Given the description of an element on the screen output the (x, y) to click on. 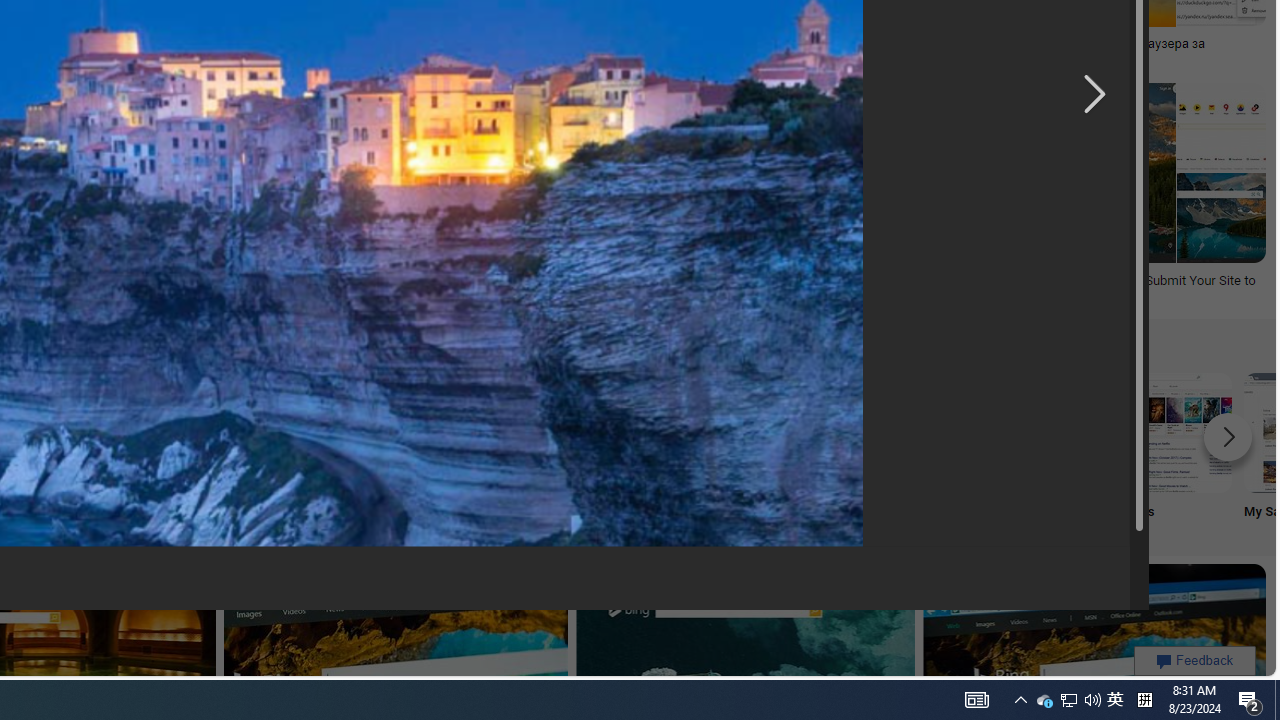
Bing Movies Search (1171, 432)
Bing Movies Search Movies (1171, 450)
Bing Search Bar Install (380, 432)
Bing Random Search (116, 432)
Intelligent (643, 450)
Image result for Bing Search Site (1221, 217)
Bing Search Tricks (1039, 432)
Movies (1171, 450)
Engine (248, 450)
Scroll more suggestions right (1227, 436)
Bing Random Search Random (116, 450)
